Given the description of an element on the screen output the (x, y) to click on. 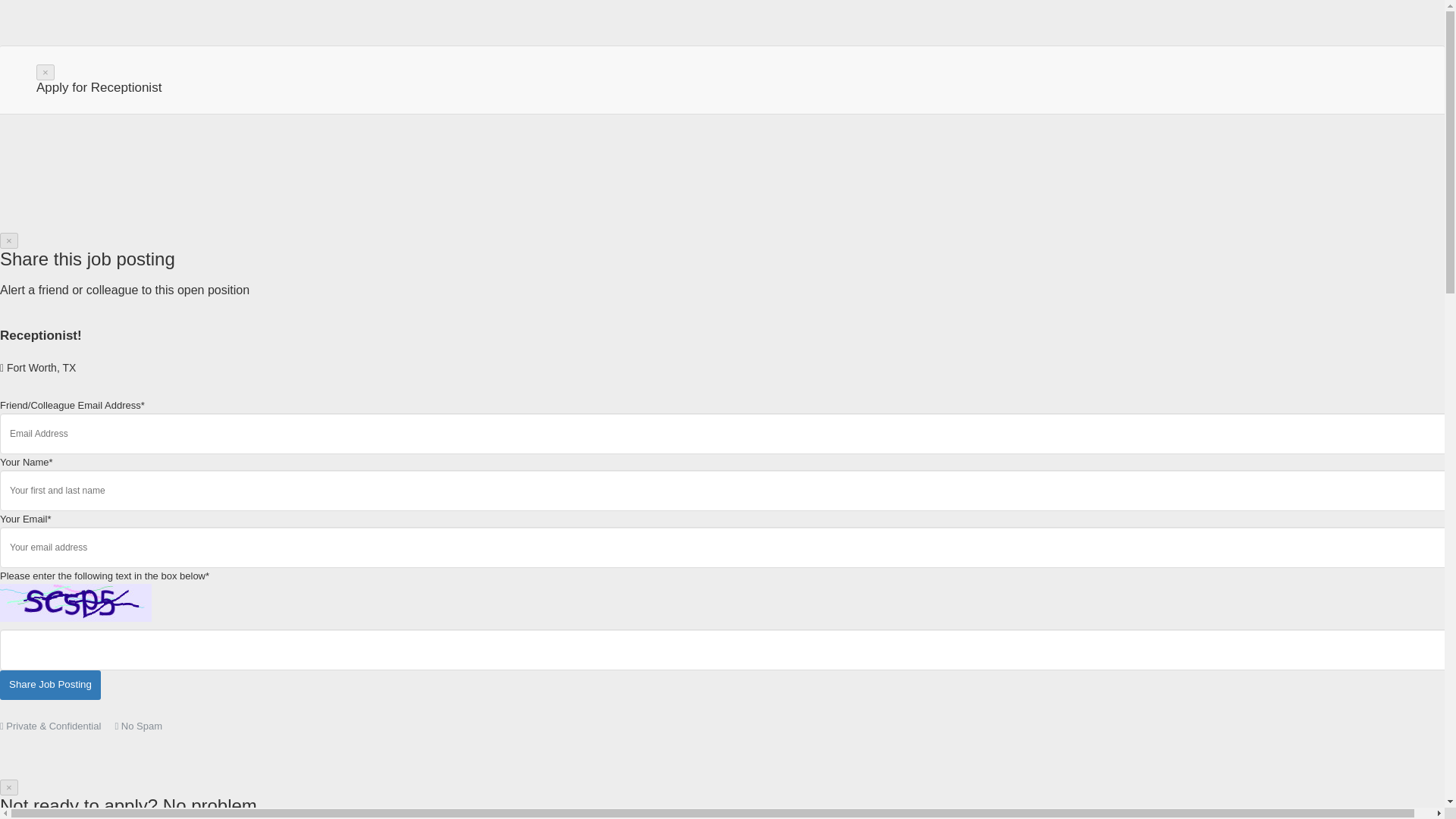
Share Job Posting (50, 685)
captcha (75, 602)
